Given the description of an element on the screen output the (x, y) to click on. 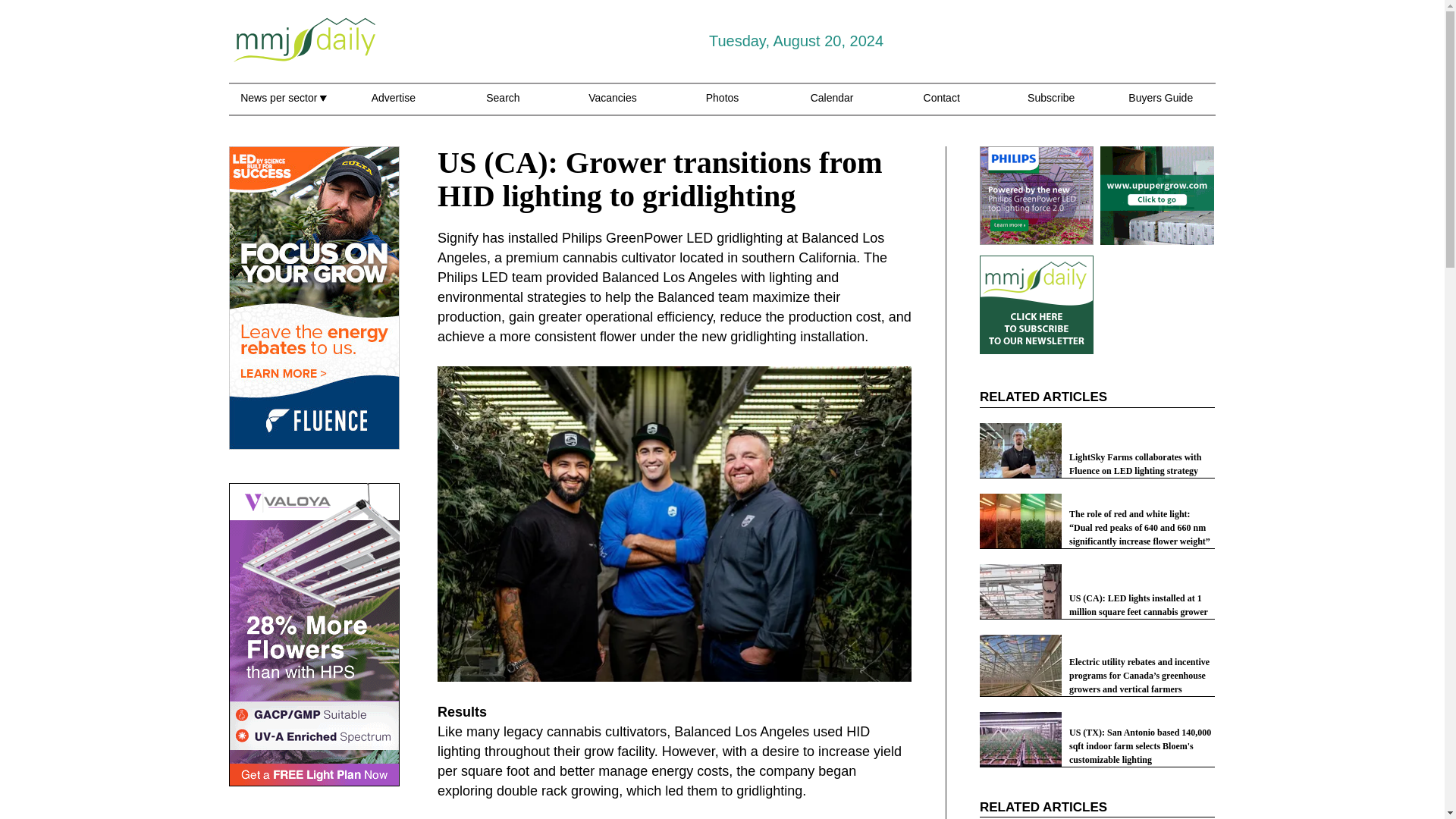
Search (502, 106)
Calendar (831, 106)
Contact (941, 106)
Vacancies (612, 106)
Photos (722, 106)
Advertise (392, 106)
News per sector (283, 106)
